Given the description of an element on the screen output the (x, y) to click on. 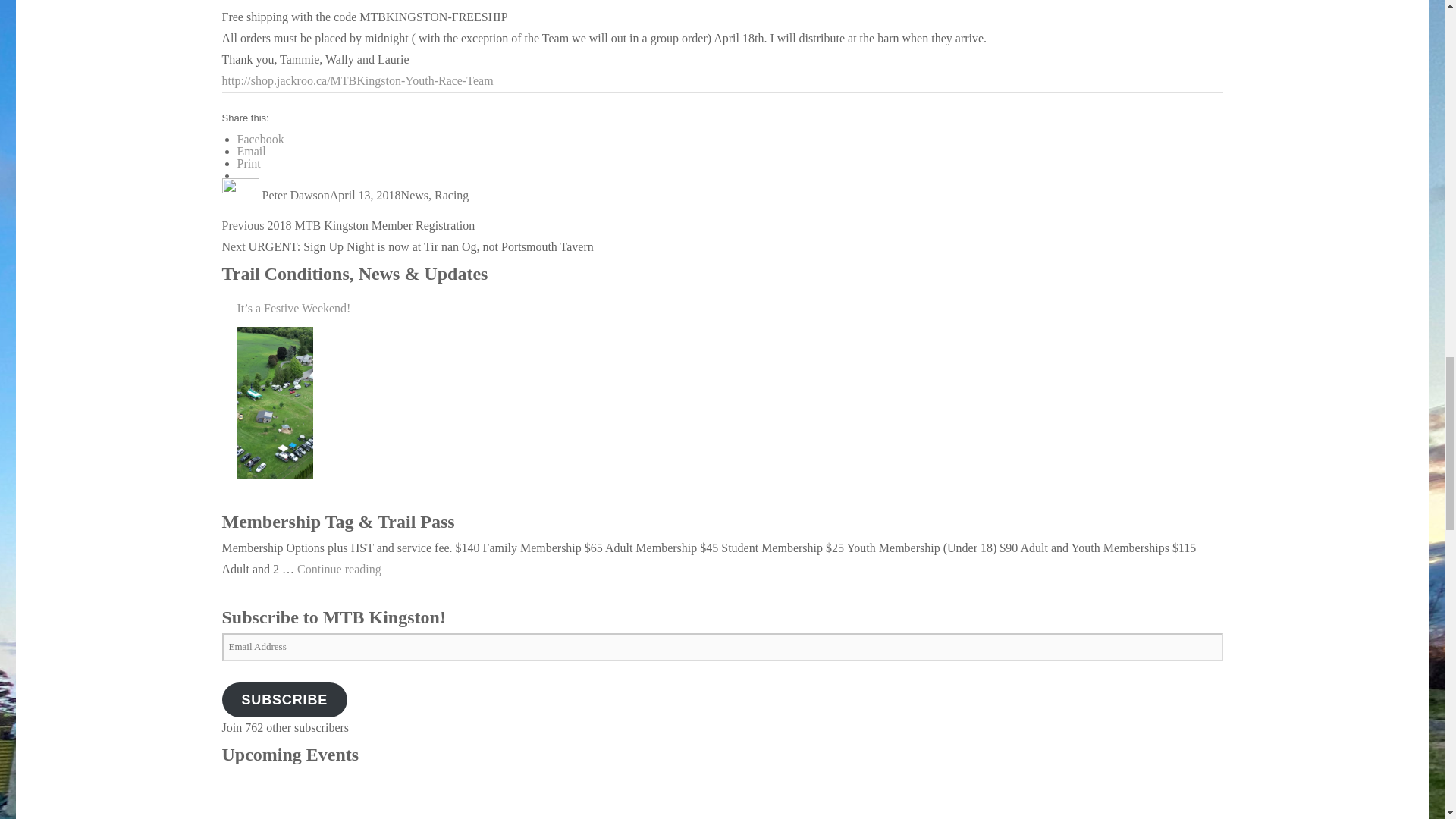
Peter Dawson (296, 195)
Click to share on Facebook (259, 138)
April 13, 2018 (365, 195)
Email (249, 151)
Click to print (247, 163)
Click to email a link to a friend (249, 151)
News (414, 195)
Racing (450, 195)
